Given the description of an element on the screen output the (x, y) to click on. 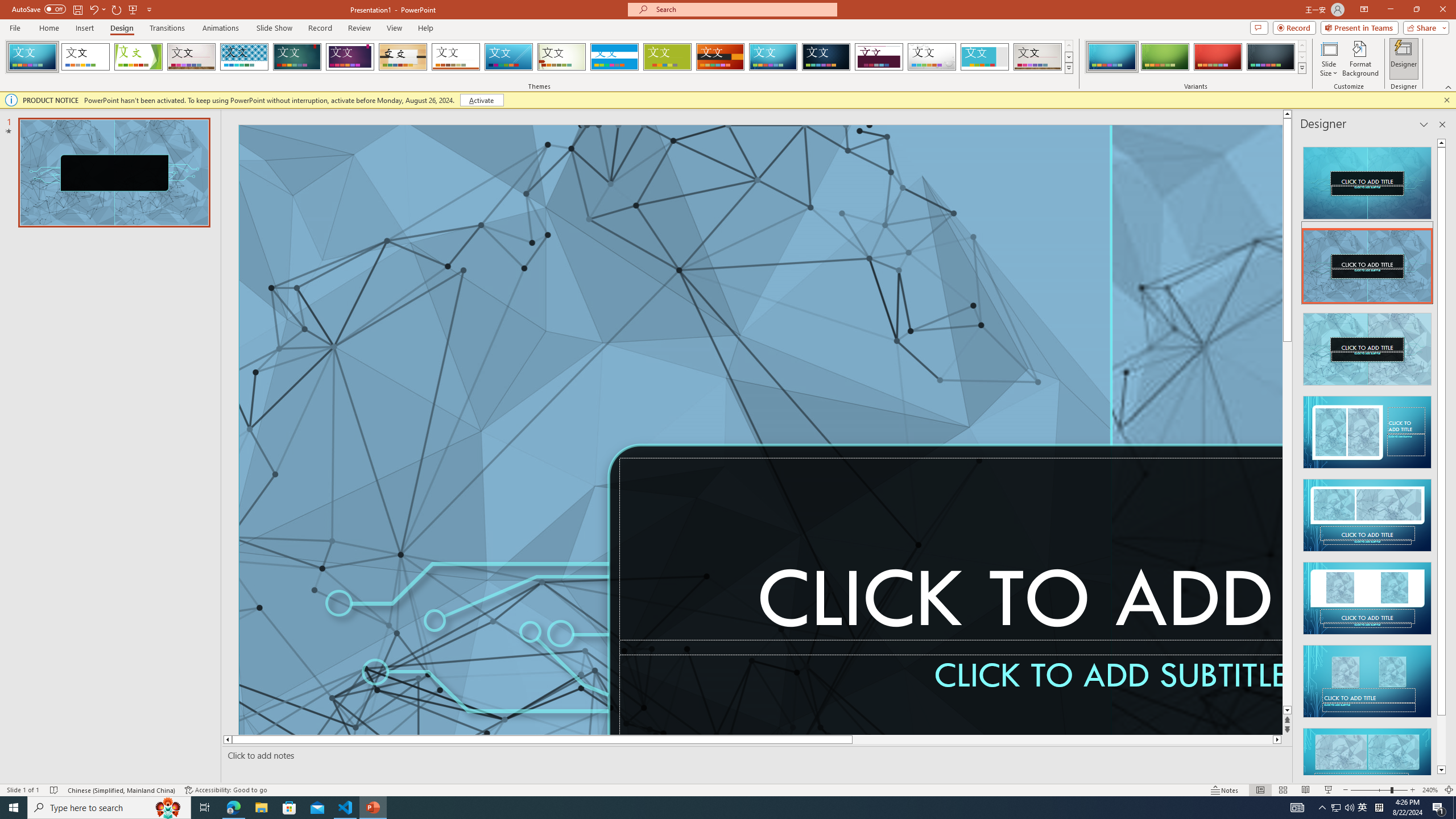
Frame (984, 56)
Damask (826, 56)
FadeVTI (32, 56)
